Given the description of an element on the screen output the (x, y) to click on. 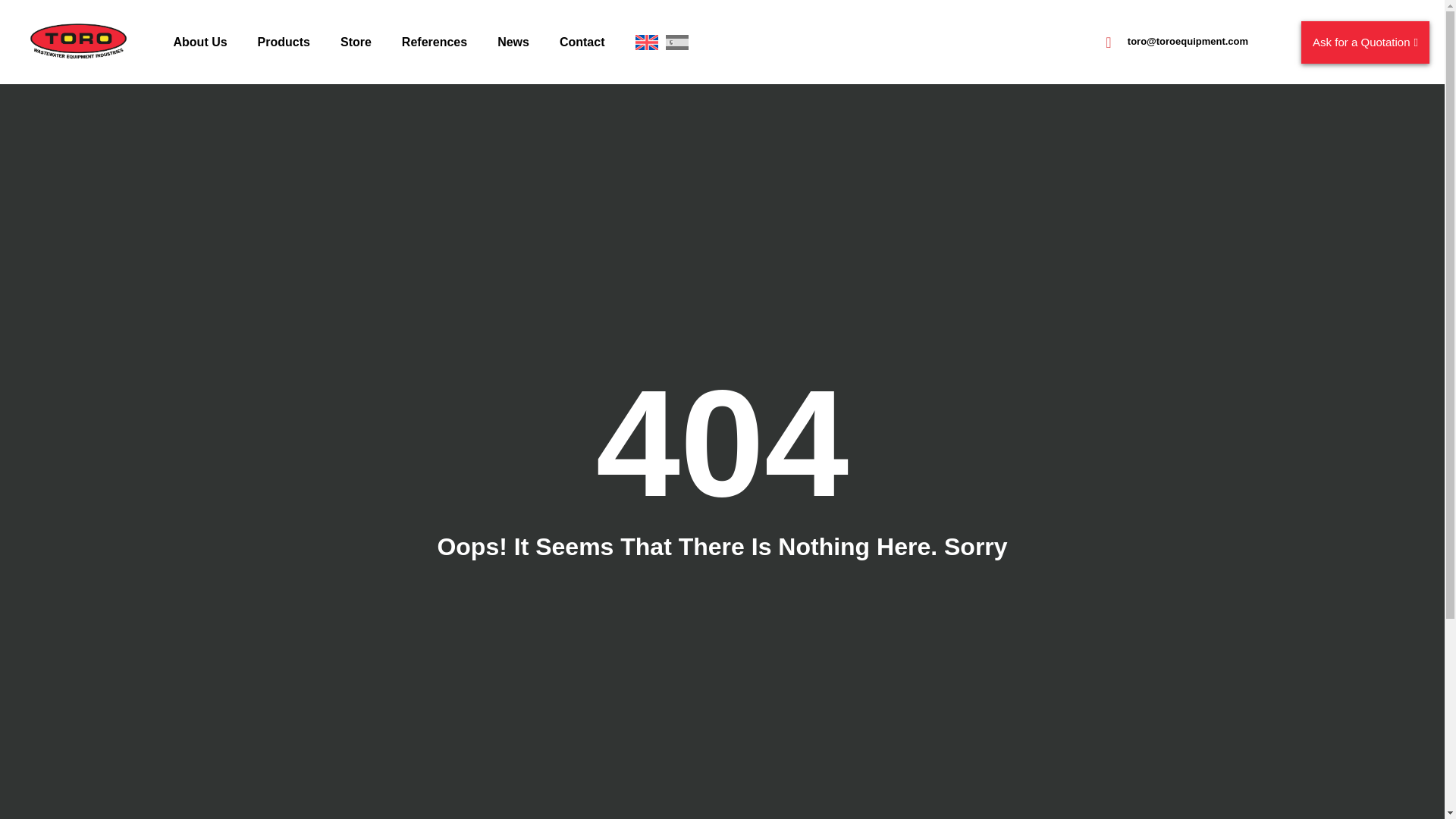
Products (283, 42)
Contact (582, 42)
About Us (199, 42)
Toro Equipment (78, 41)
Store (355, 42)
News (512, 42)
email (1108, 42)
Ask for a Quotation (1365, 42)
email (1186, 41)
References (434, 42)
